Given the description of an element on the screen output the (x, y) to click on. 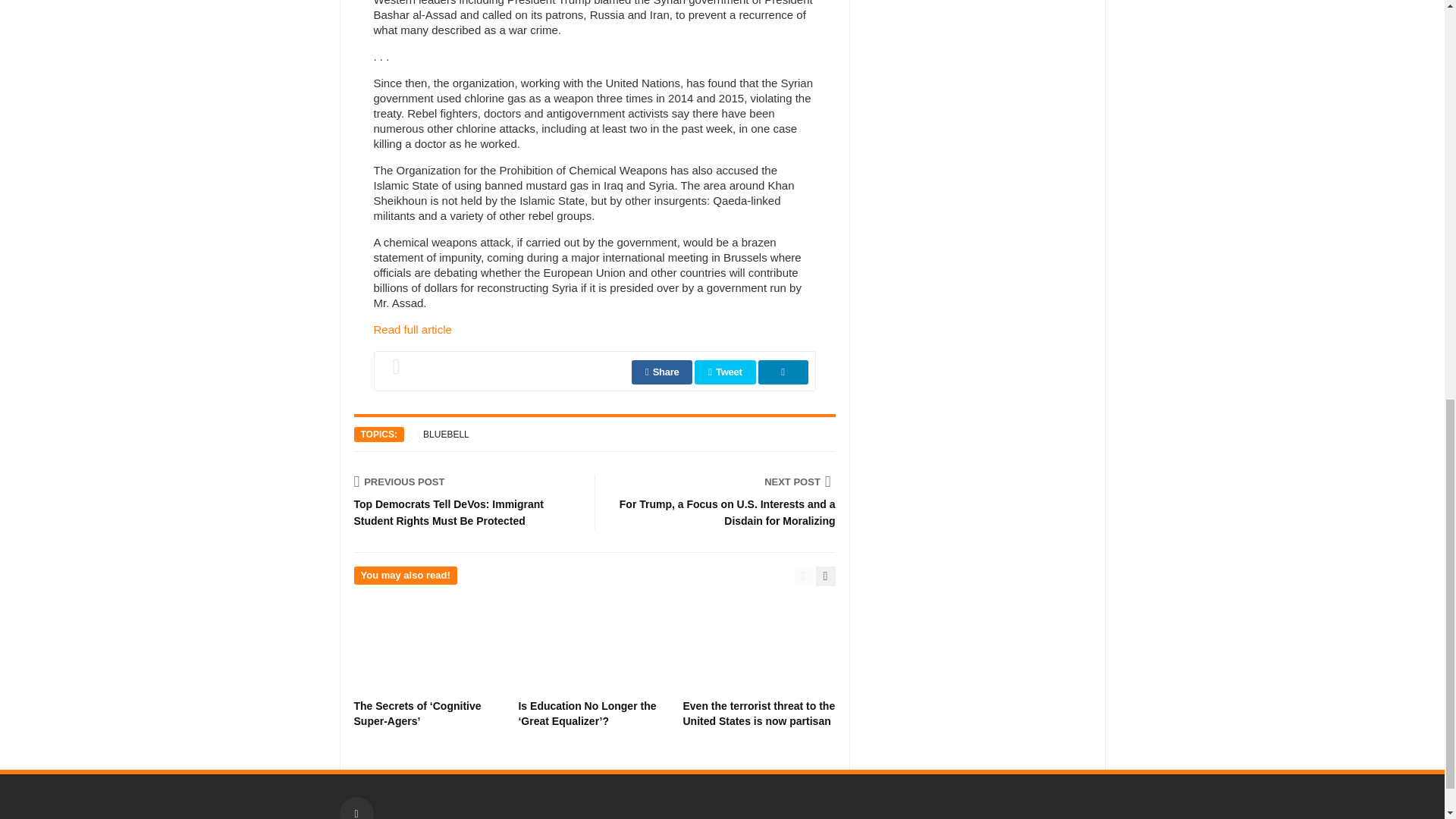
Facebook (356, 807)
